Given the description of an element on the screen output the (x, y) to click on. 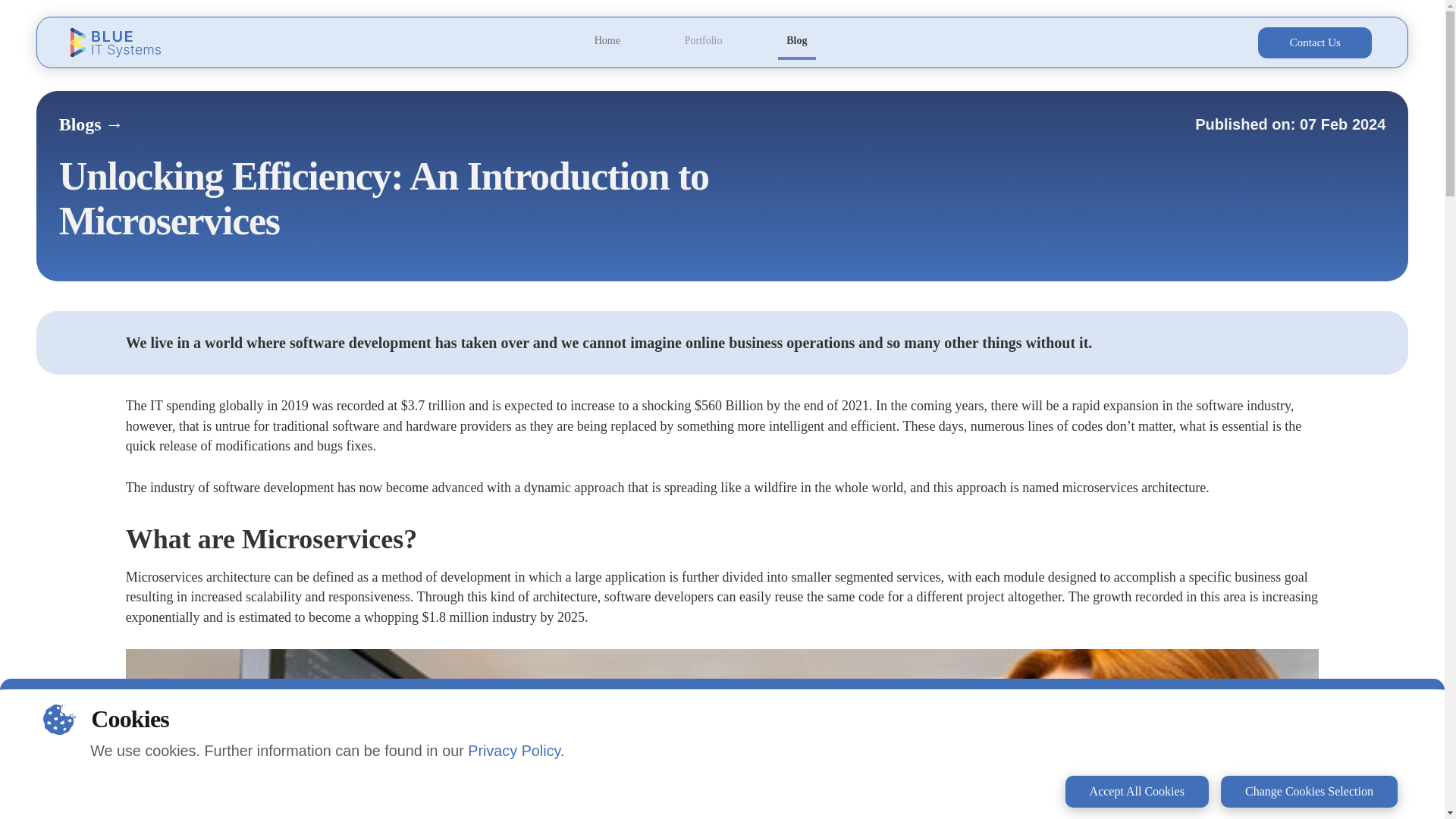
Privacy Policy (513, 750)
Blogs (91, 123)
Home (607, 40)
Accept All Cookies (1136, 791)
Portfolio (703, 40)
Blog (796, 41)
Contact Us (1314, 42)
Change Cookies Selection (1309, 791)
